Given the description of an element on the screen output the (x, y) to click on. 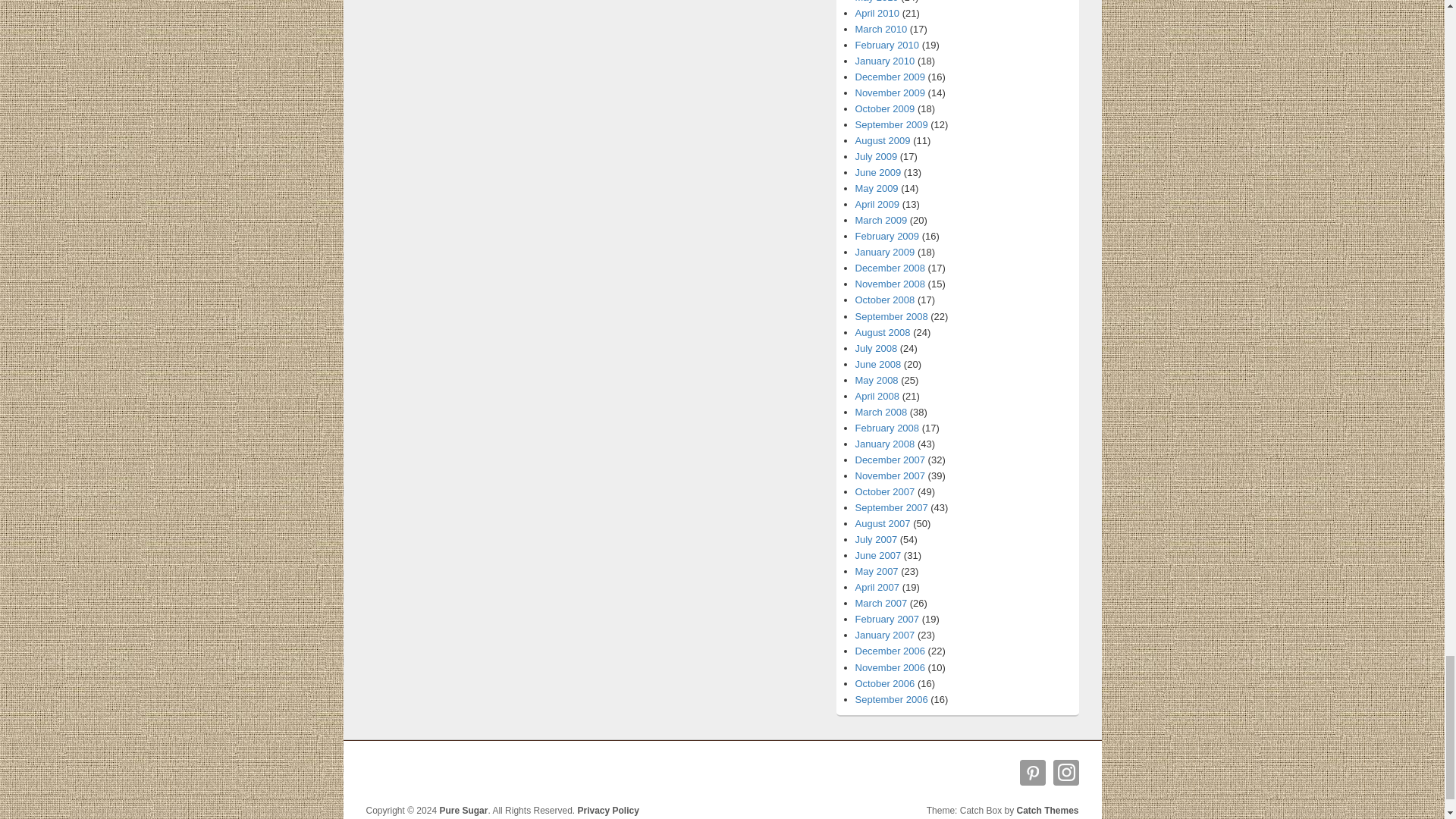
Pure Sugar (463, 810)
Catch Themes (1047, 810)
